Given the description of an element on the screen output the (x, y) to click on. 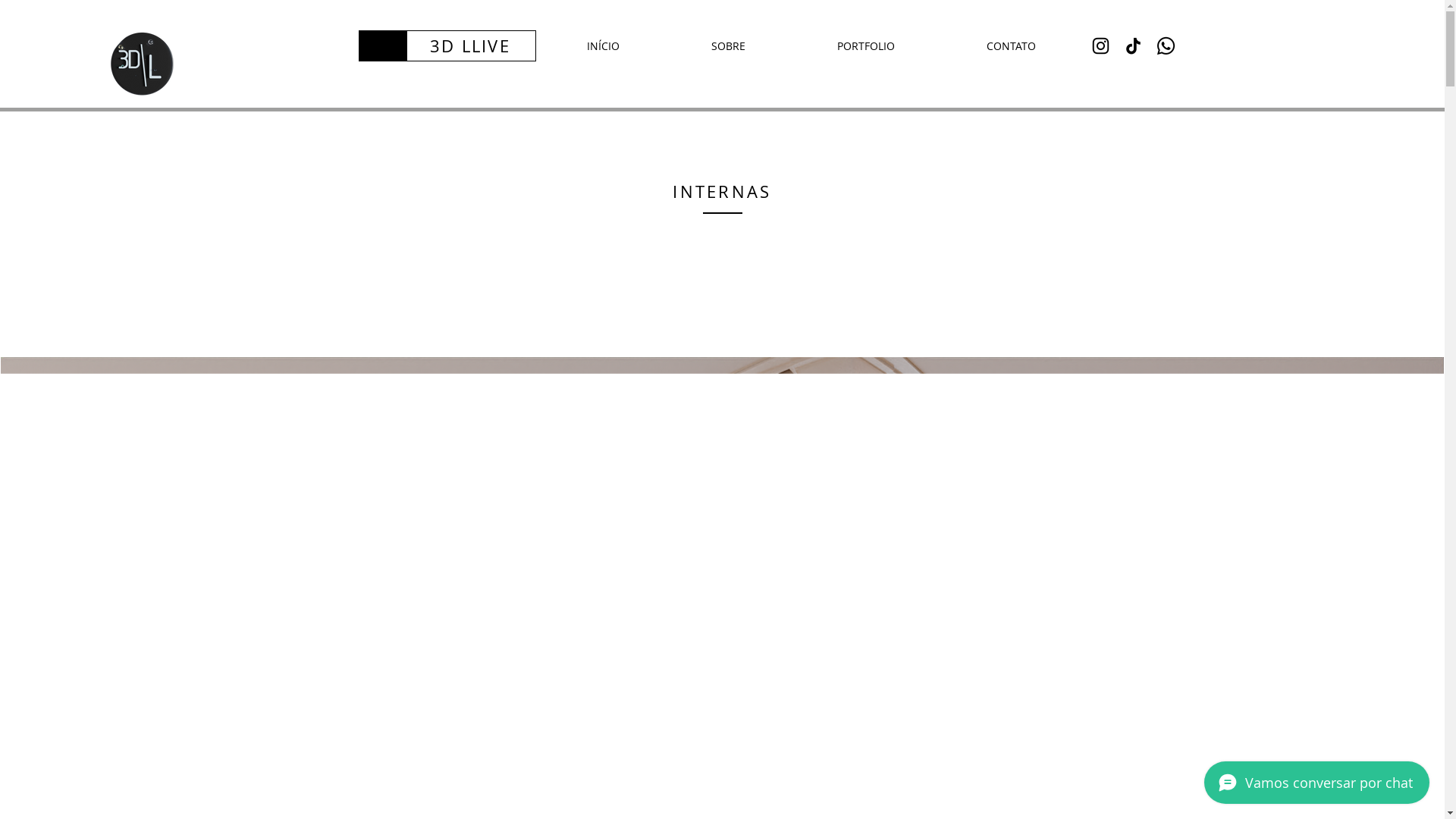
3D LLIVE Element type: text (469, 45)
SOBRE Element type: text (728, 45)
CONTATO Element type: text (1010, 45)
